Given the description of an element on the screen output the (x, y) to click on. 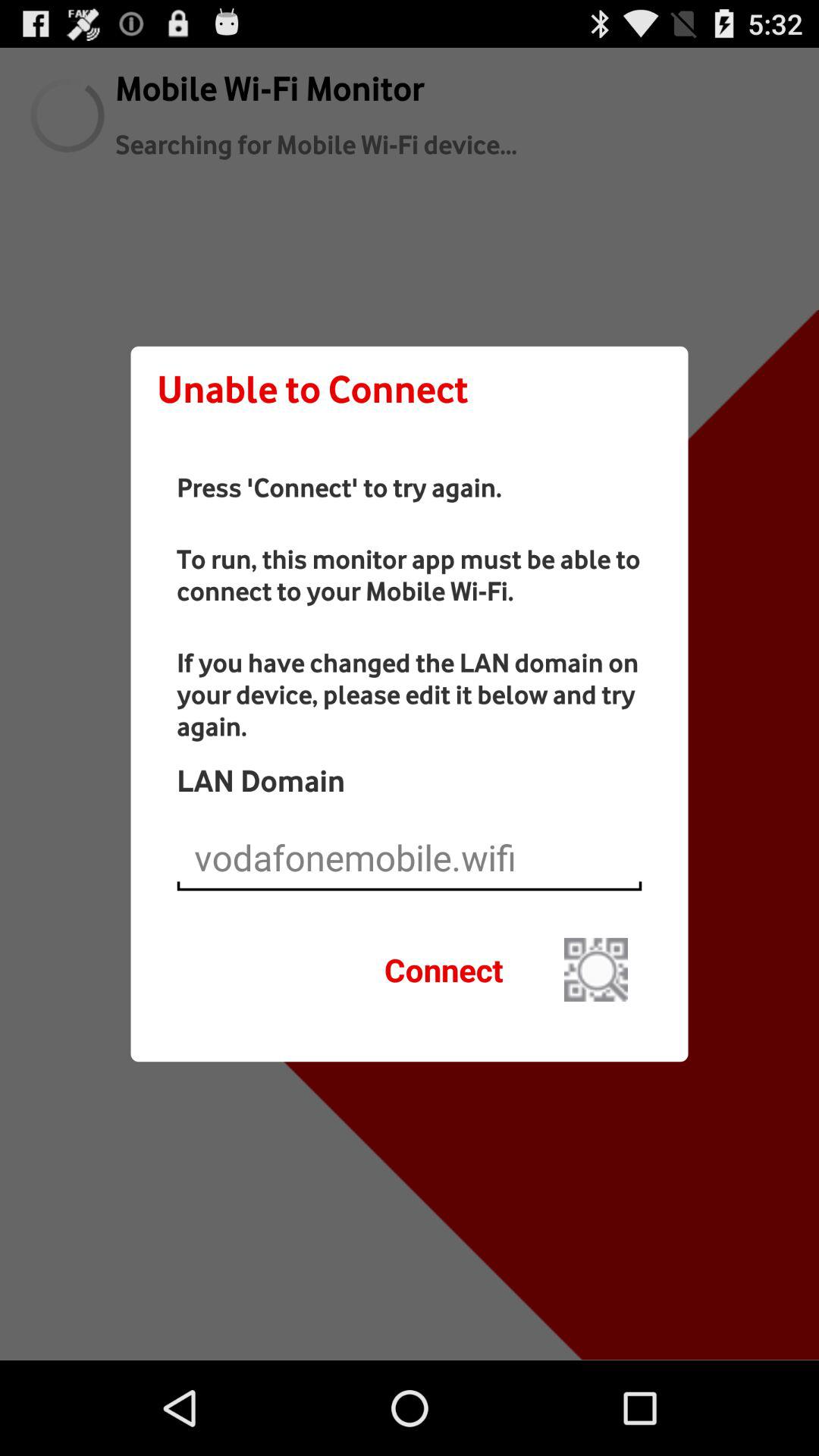
open qr camera (595, 969)
